Given the description of an element on the screen output the (x, y) to click on. 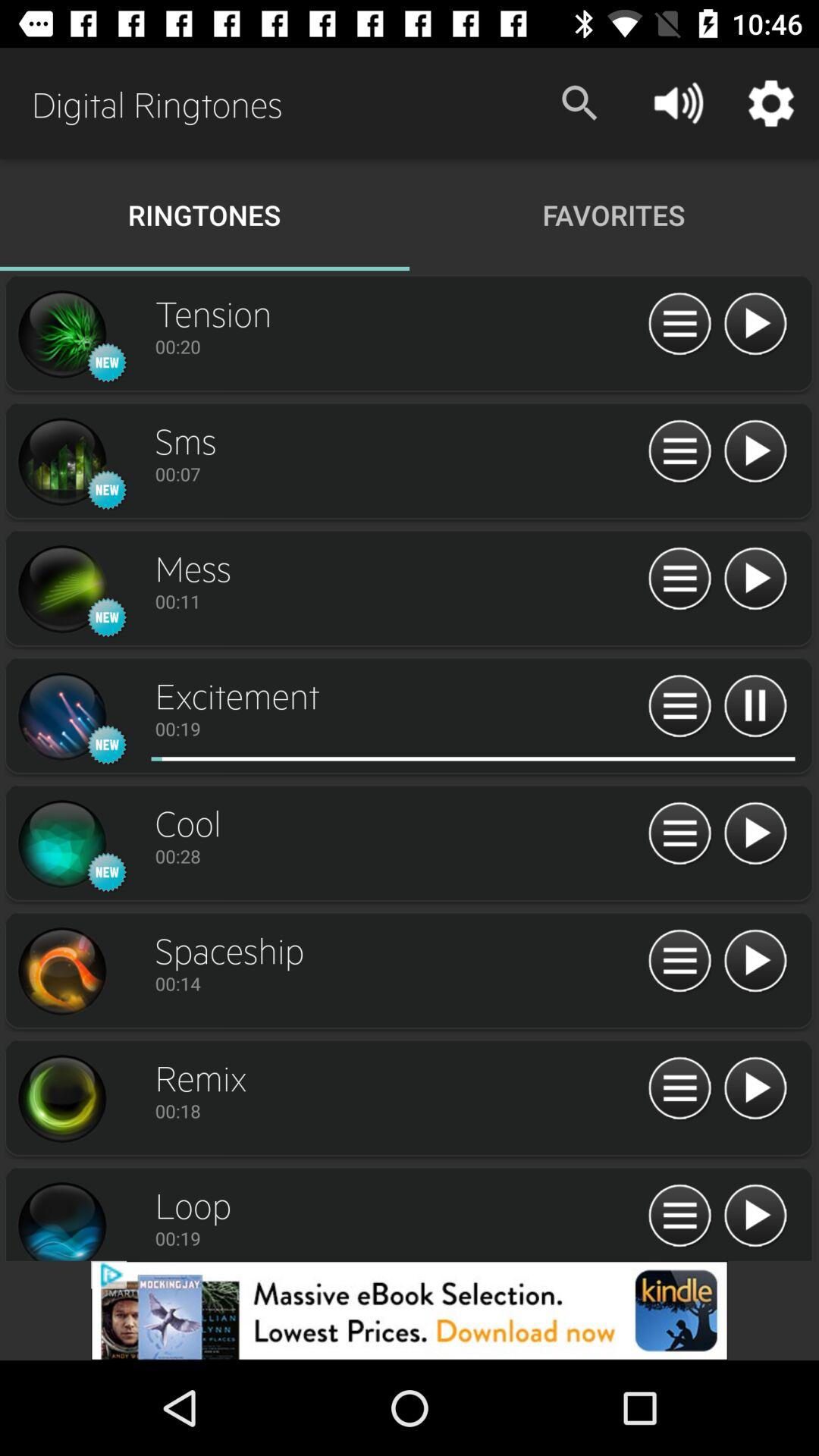
settings button for specific audio file (679, 579)
